Given the description of an element on the screen output the (x, y) to click on. 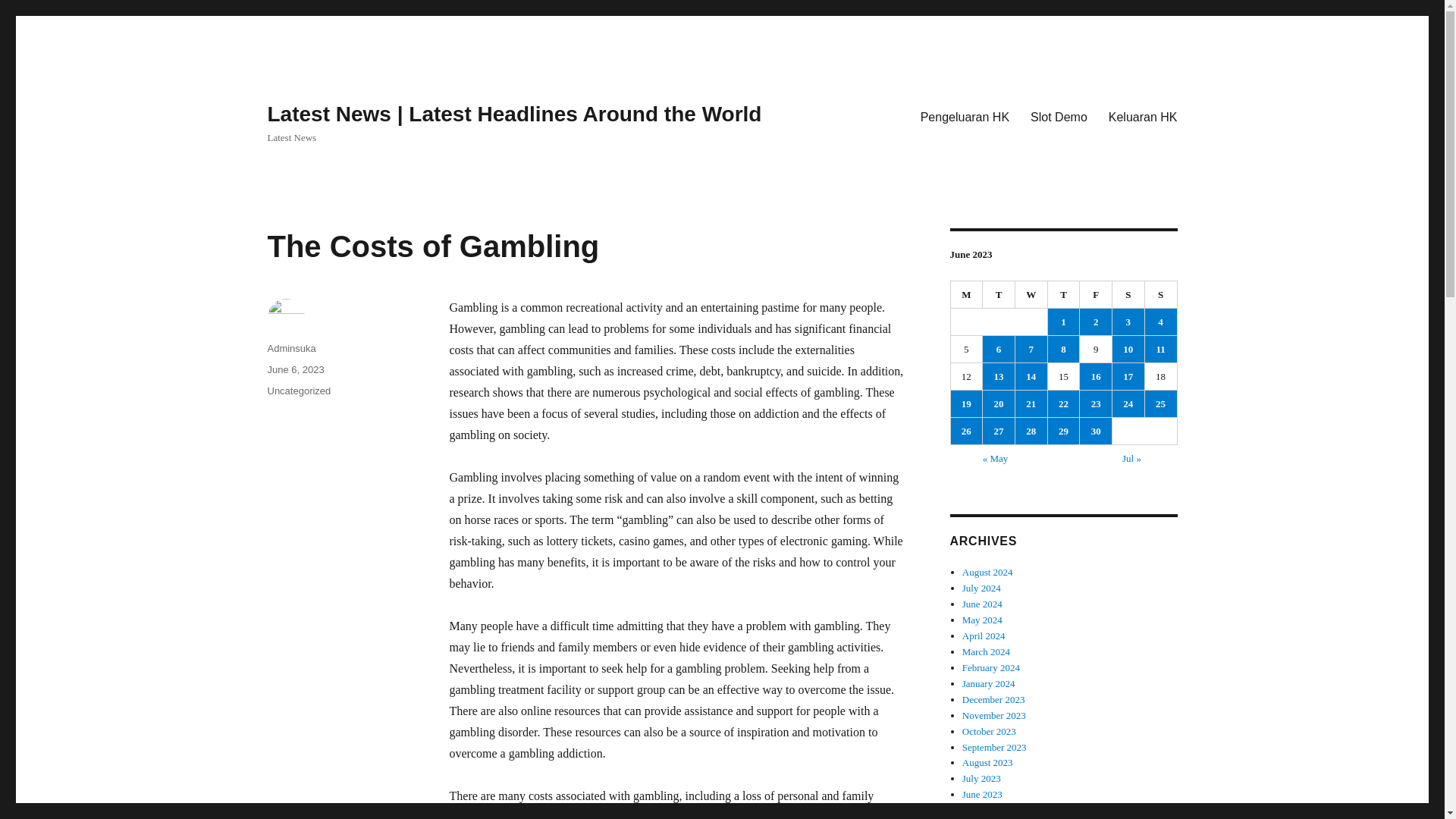
Sunday (1160, 294)
16 (1096, 376)
Tuesday (998, 294)
July 2024 (981, 587)
19 (966, 403)
27 (998, 430)
20 (998, 403)
Uncategorized (298, 390)
7 (1030, 348)
24 (1128, 403)
8 (1064, 348)
30 (1096, 430)
28 (1030, 430)
6 (998, 348)
13 (998, 376)
